Given the description of an element on the screen output the (x, y) to click on. 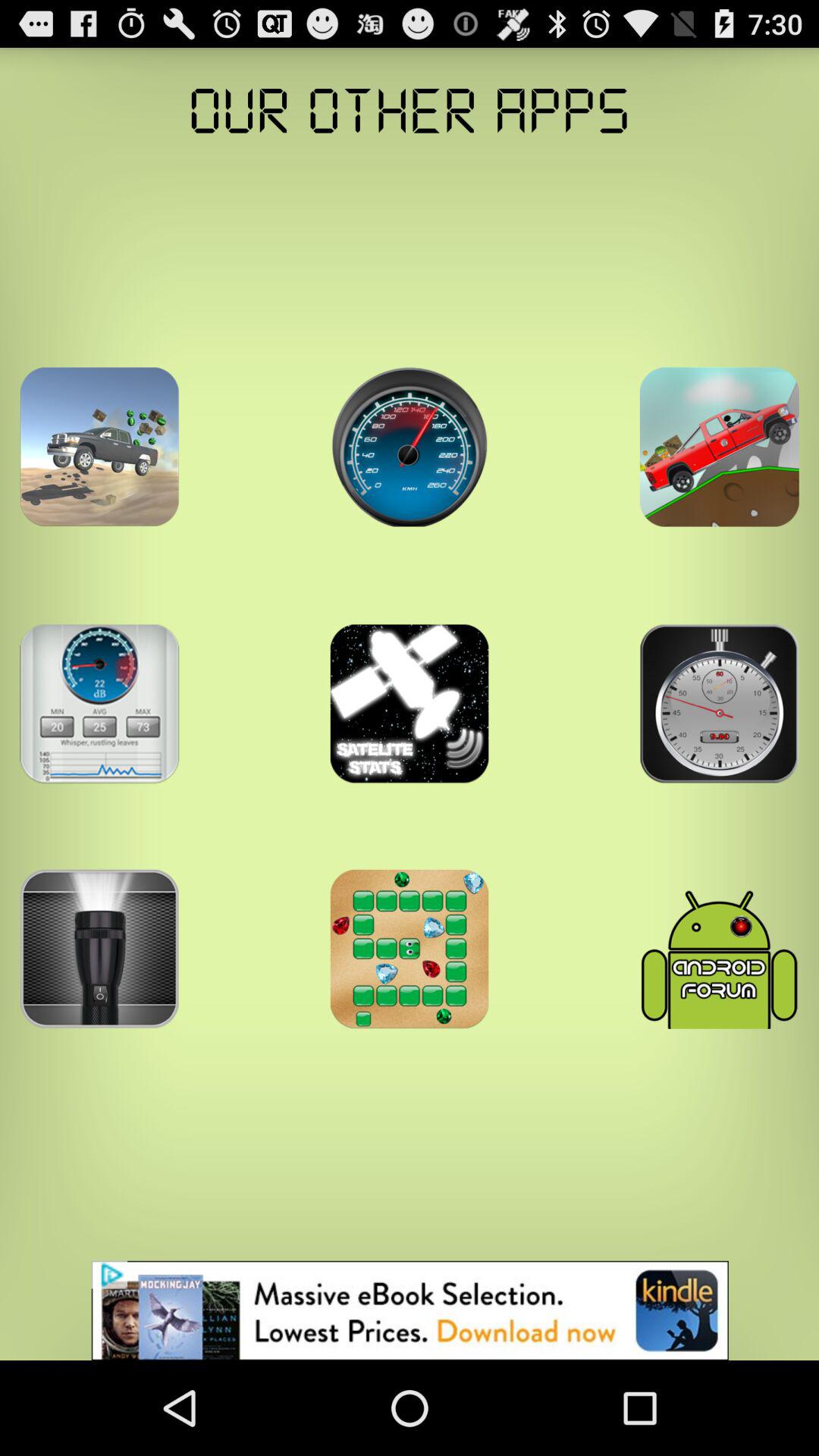
get more information (719, 446)
